Given the description of an element on the screen output the (x, y) to click on. 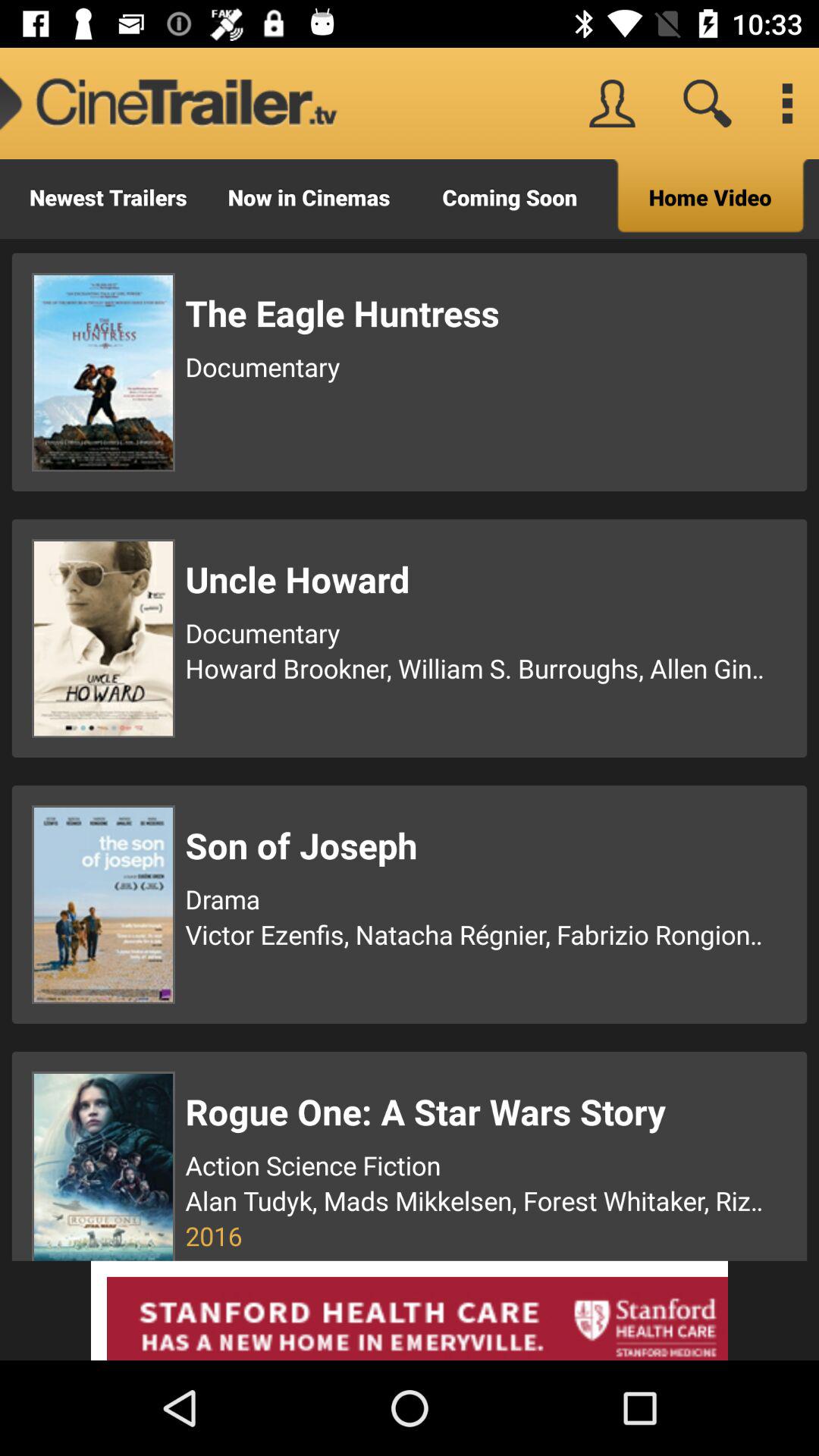
flip until newest trailers (107, 198)
